Given the description of an element on the screen output the (x, y) to click on. 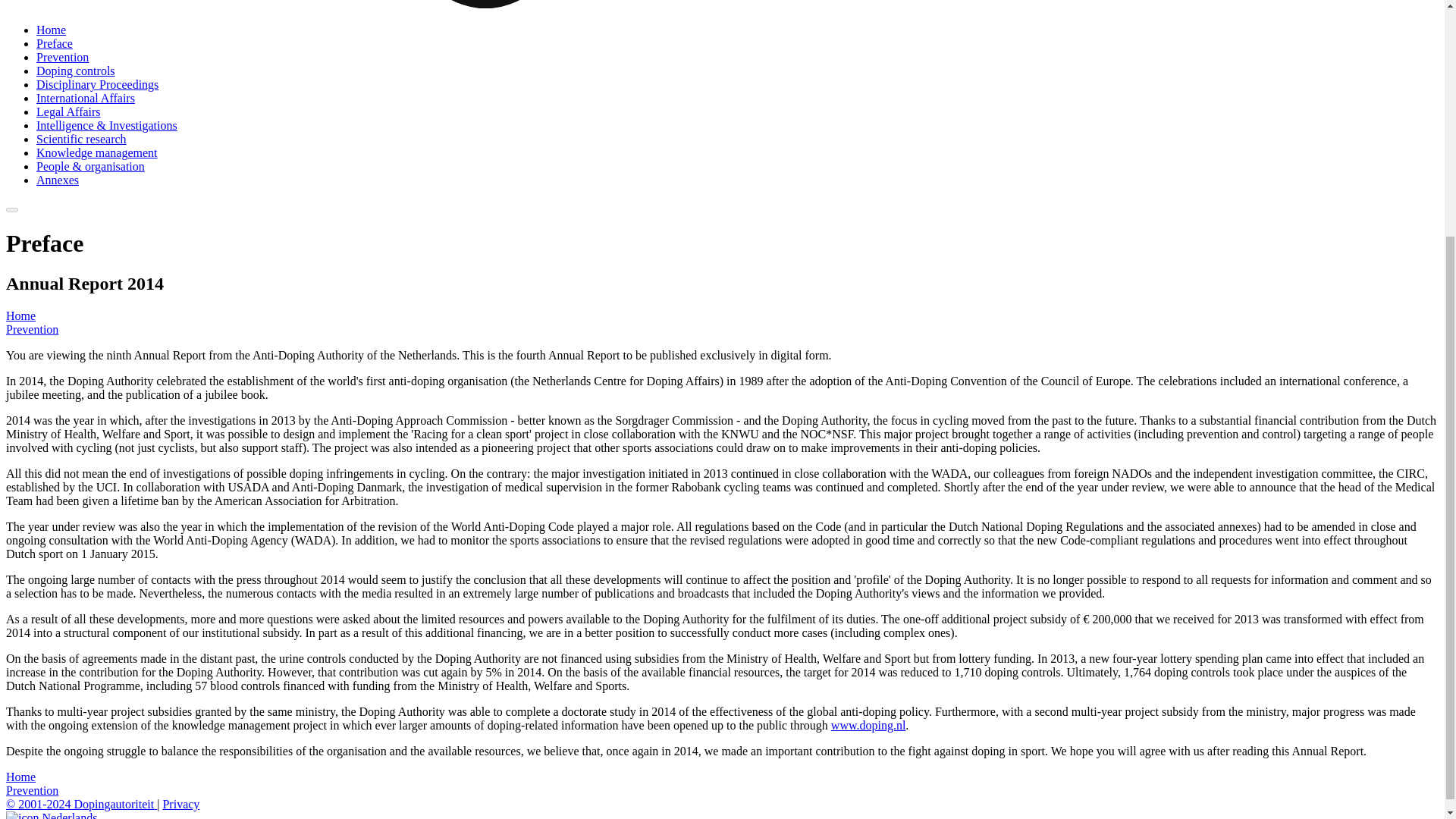
Prevention (31, 789)
www.doping.nl (868, 725)
Doping controls (75, 70)
Knowledge management (96, 152)
Prevention (31, 328)
Prevention (62, 56)
Disciplinary Proceedings (97, 83)
Scientific research (81, 138)
Annexes (57, 179)
Privacy (180, 803)
